Given the description of an element on the screen output the (x, y) to click on. 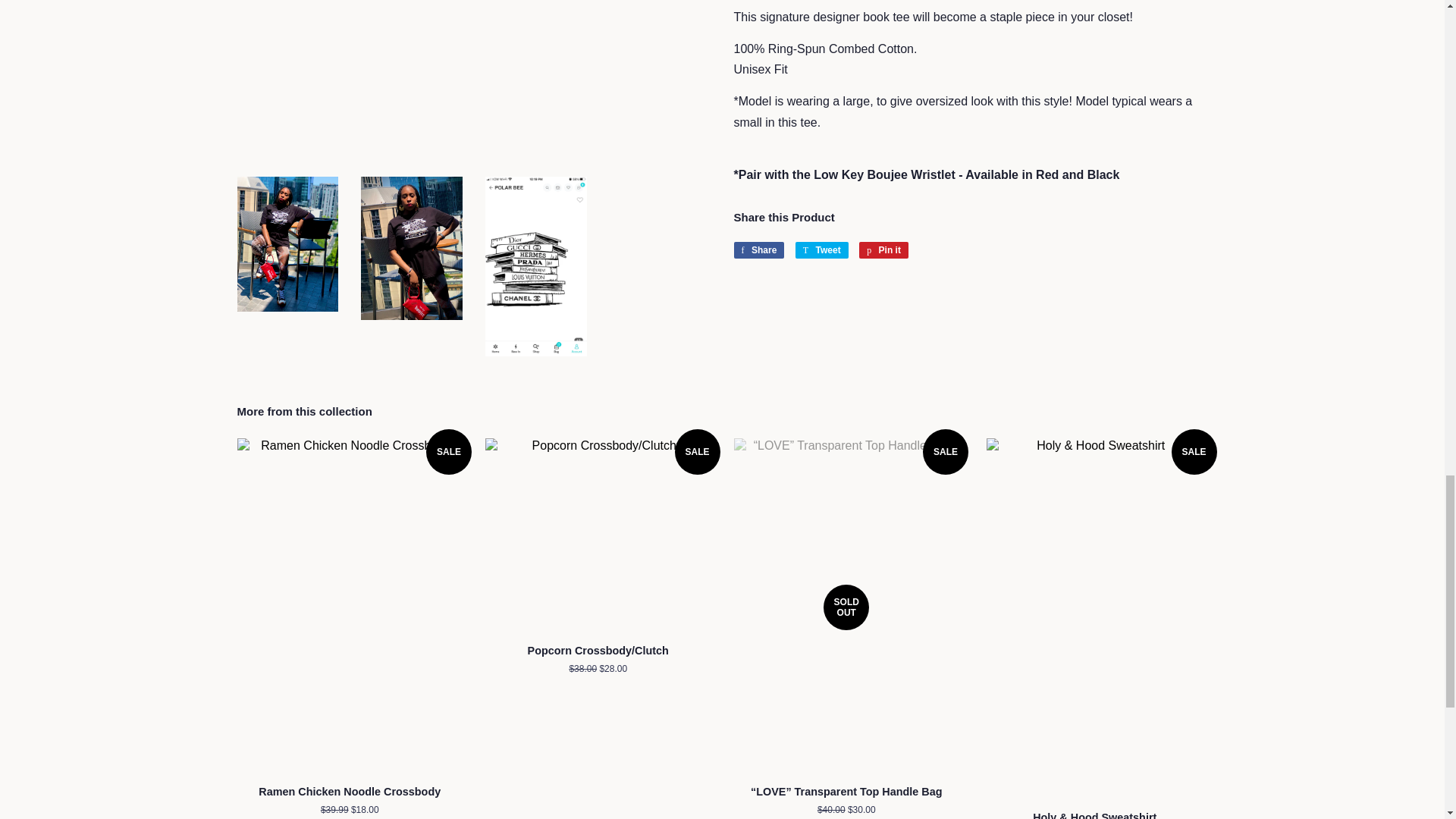
Pin on Pinterest (883, 249)
Tweet on Twitter (821, 249)
Share on Facebook (758, 249)
